Given the description of an element on the screen output the (x, y) to click on. 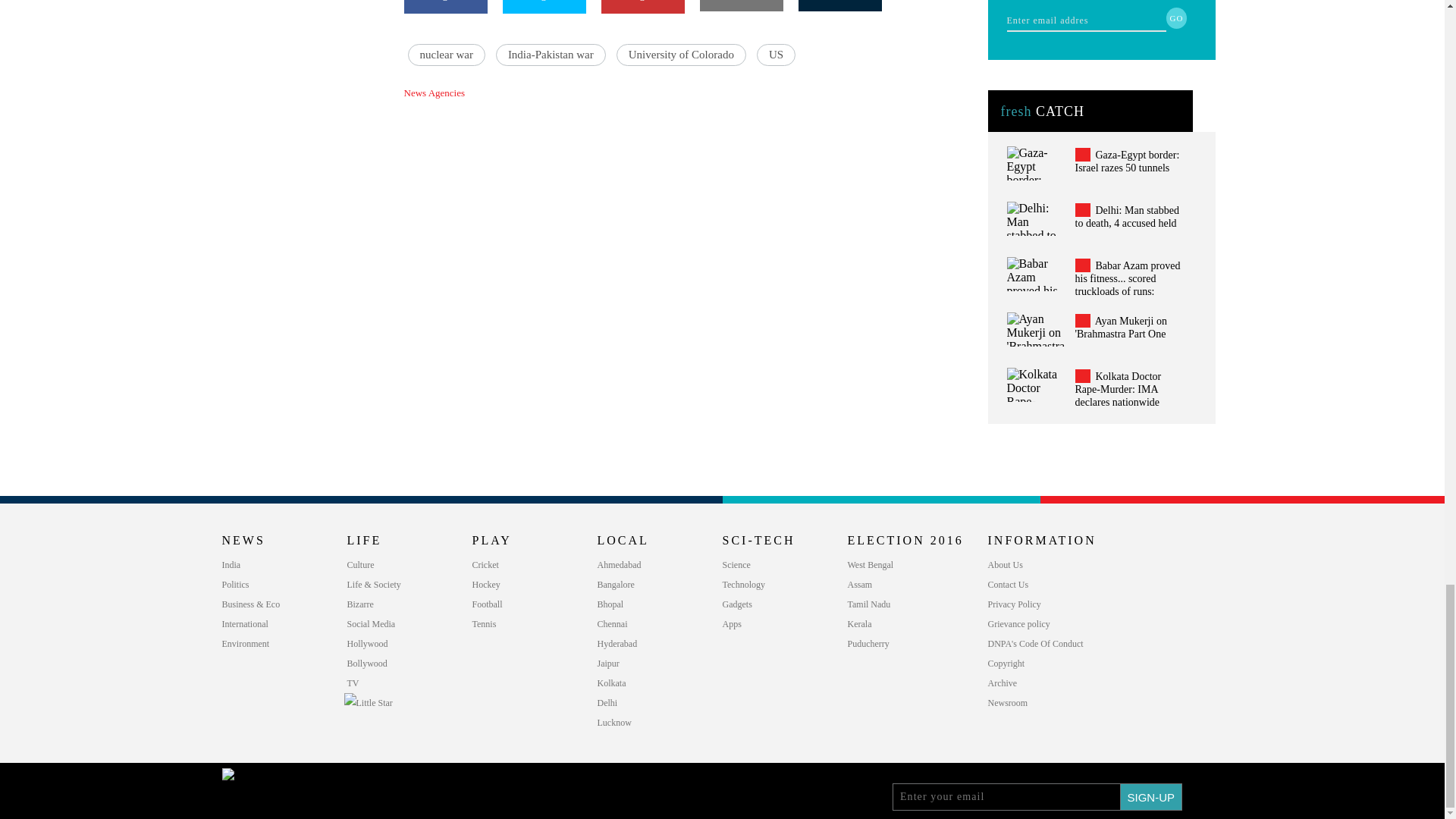
GO (1177, 17)
SIGN-UP (1150, 796)
India-Pakistan war (550, 55)
US (775, 55)
University of Colorado (680, 55)
nuclear war (445, 55)
